Given the description of an element on the screen output the (x, y) to click on. 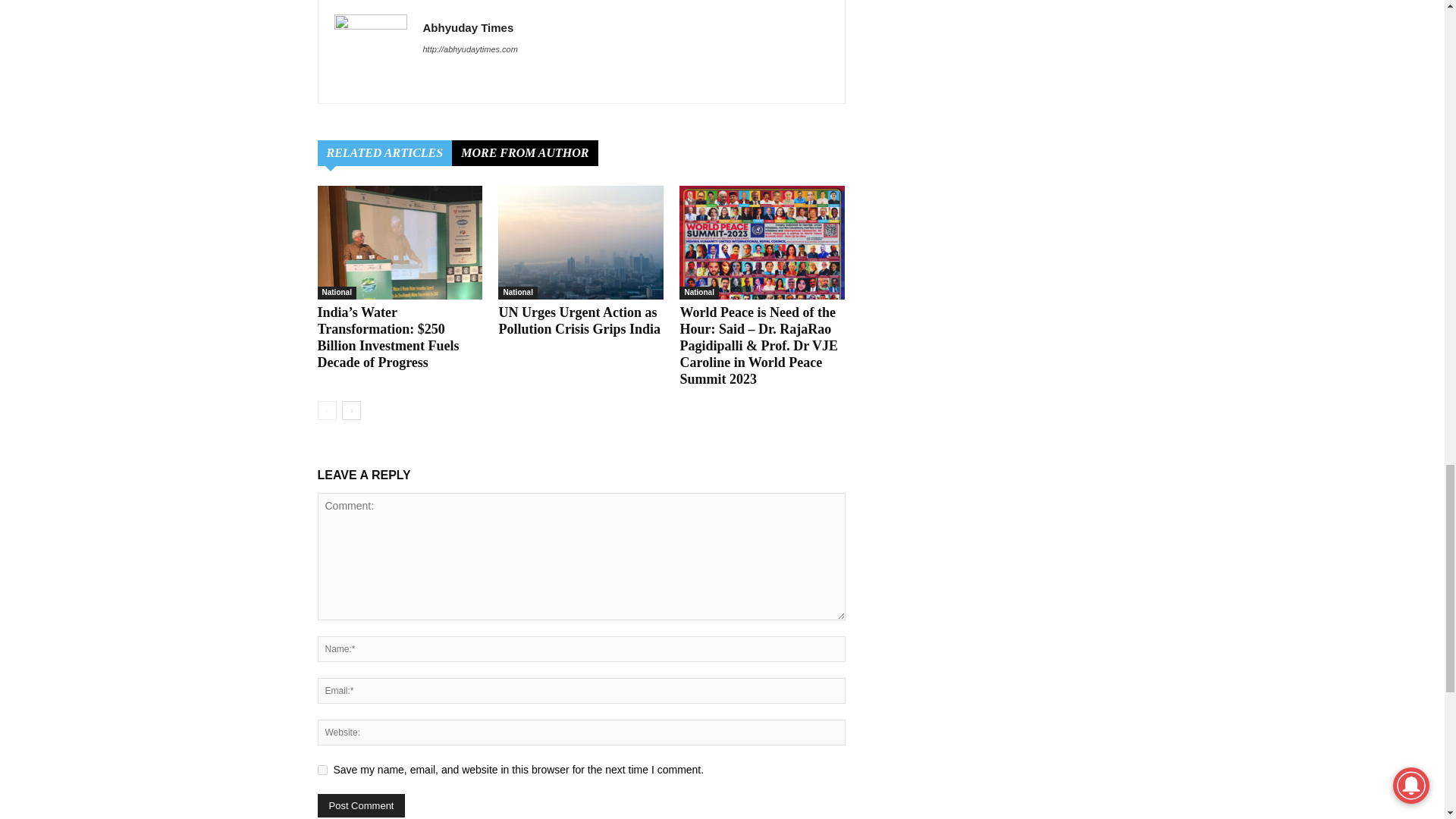
yes (321, 769)
Post Comment (360, 805)
